Given the description of an element on the screen output the (x, y) to click on. 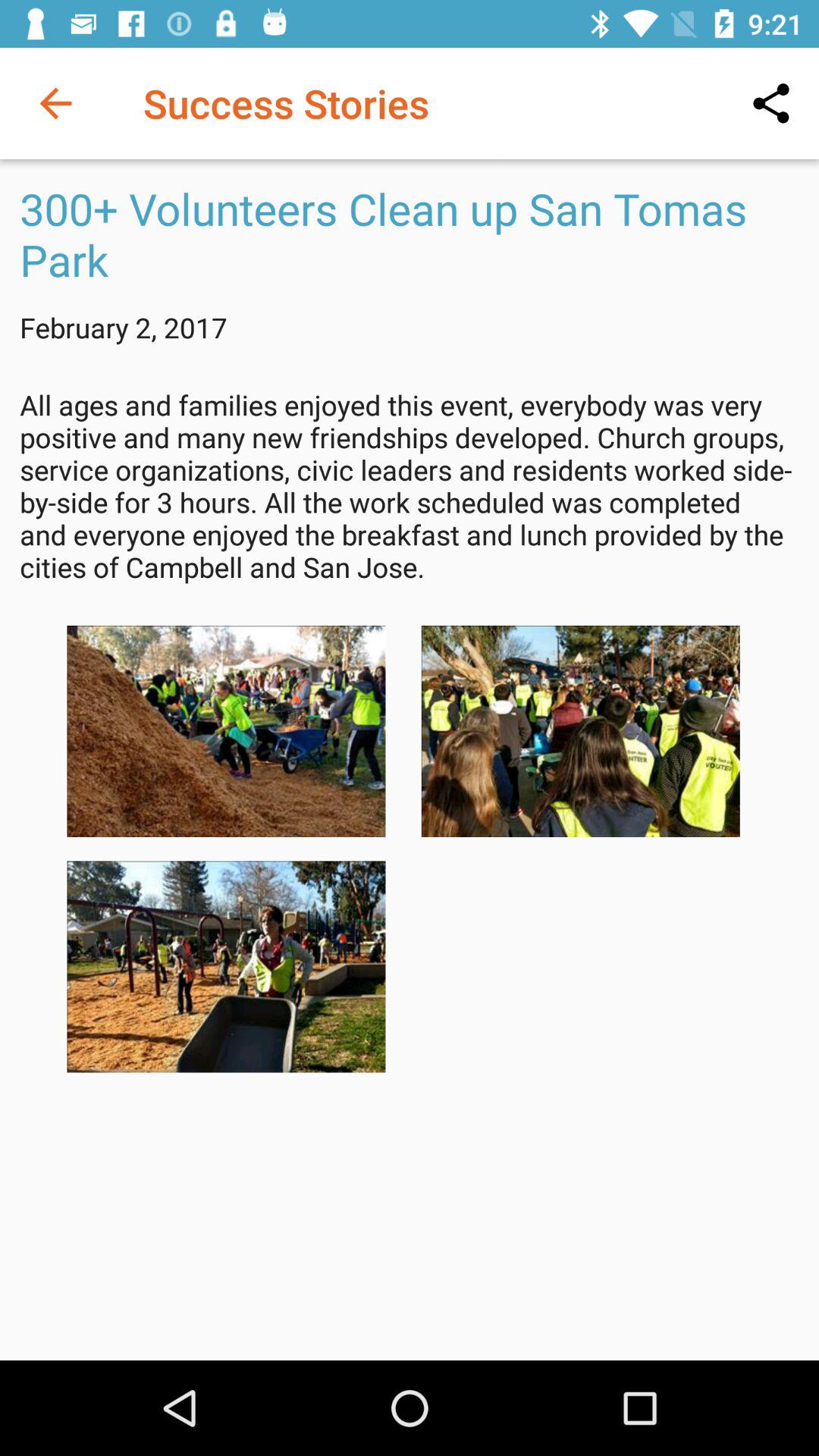
open icon below all ages and icon (226, 731)
